Given the description of an element on the screen output the (x, y) to click on. 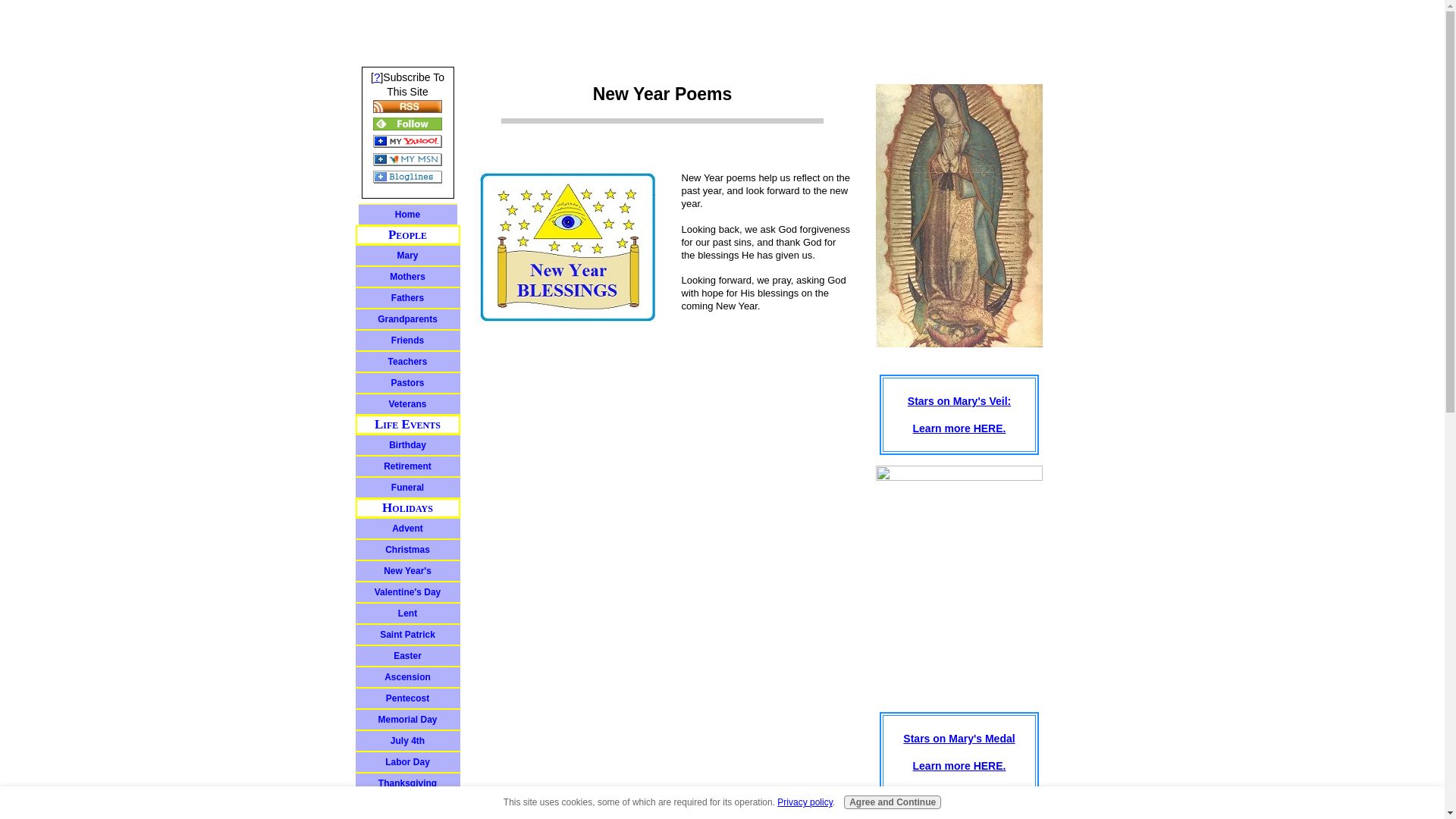
Advent (407, 527)
Thanksgiving (407, 783)
Pastors (407, 382)
Ascension (407, 676)
Fathers (407, 297)
Valentine's Day (407, 591)
Birthday (407, 444)
Memorial Day (407, 719)
Mothers (407, 276)
